Given the description of an element on the screen output the (x, y) to click on. 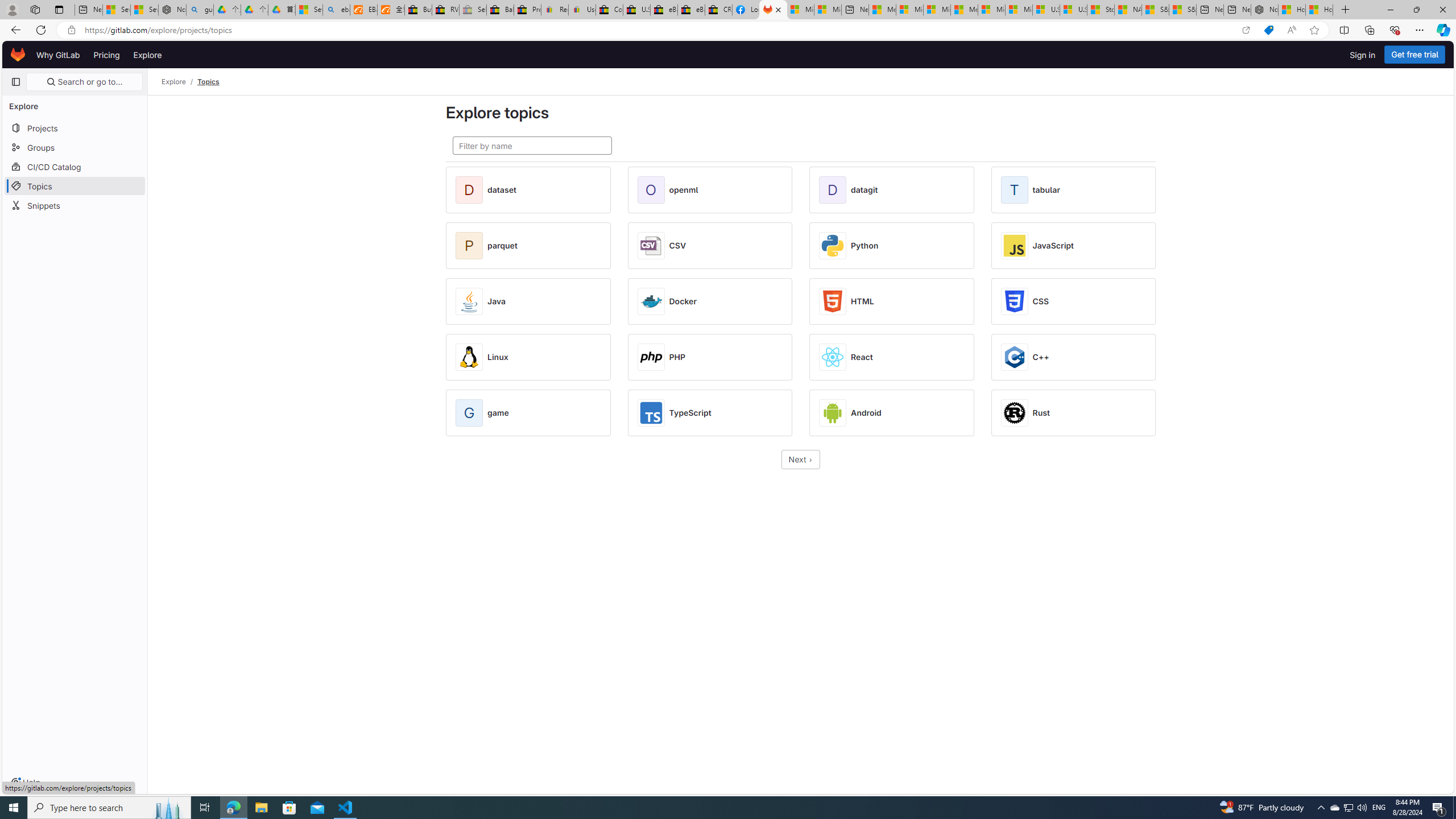
PHP (676, 356)
Groups (74, 147)
CSS (1040, 301)
Explore (146, 54)
parquet (501, 245)
Explore (173, 81)
T (1016, 189)
O (653, 189)
Homepage (17, 54)
